Given the description of an element on the screen output the (x, y) to click on. 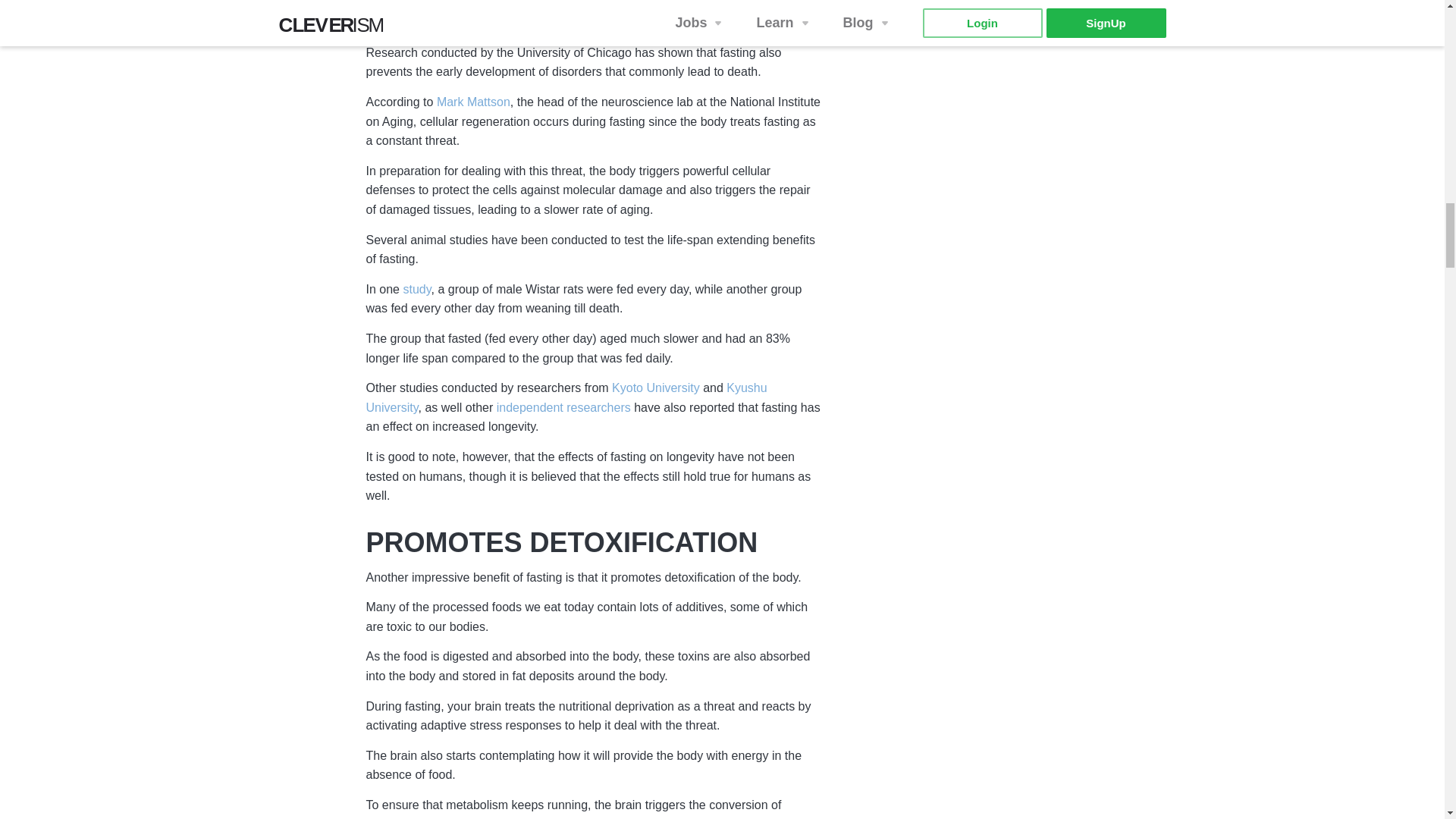
Kyushu University (566, 398)
study (416, 290)
Kyoto University (655, 388)
Mark Mattson (473, 102)
independent researchers (563, 408)
